Given the description of an element on the screen output the (x, y) to click on. 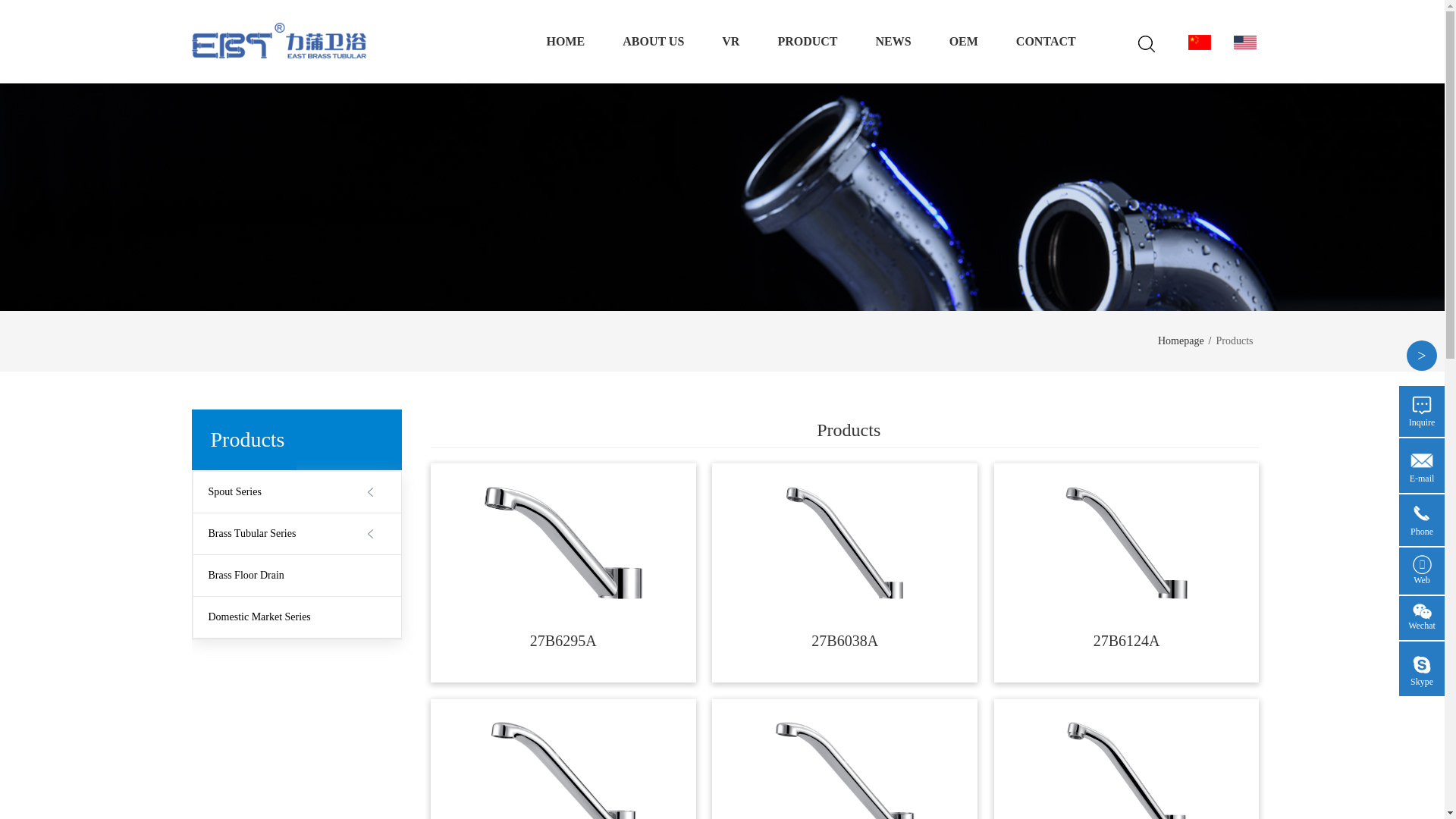
VR (730, 41)
HOME (565, 41)
OEM (963, 41)
CONTACT (1045, 41)
27B6115A (563, 770)
27B6258A (845, 770)
27B6430A (1126, 770)
27B6038A (844, 542)
ebt (277, 40)
PRODUCT (807, 41)
NEWS (893, 41)
ABOUT US (653, 41)
27B6295A (563, 542)
27B6124A (1125, 542)
